Given the description of an element on the screen output the (x, y) to click on. 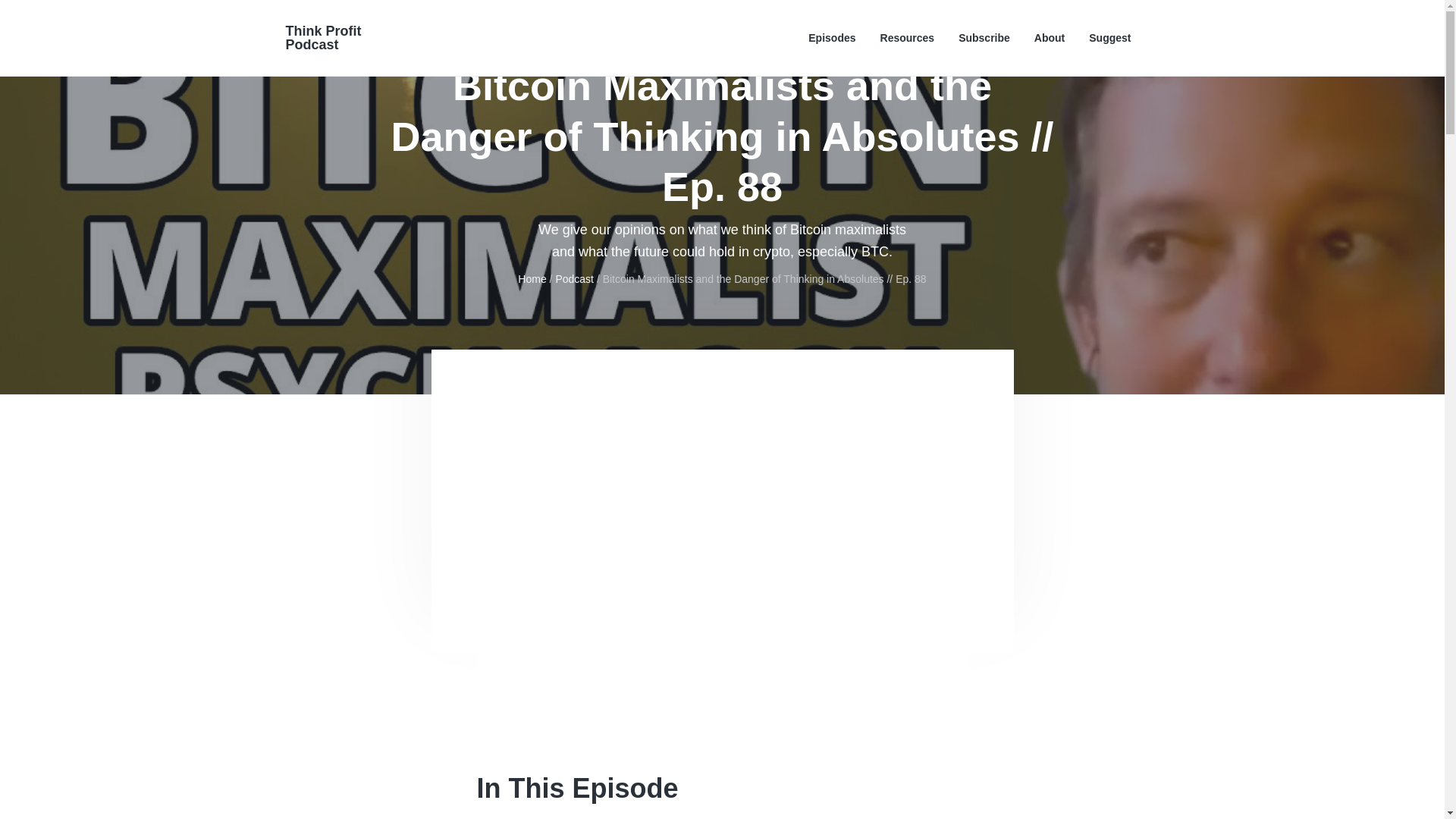
Episodes (832, 37)
Subscribe (984, 37)
Resources (907, 37)
Think Profit Podcast (323, 37)
Suggest (1110, 37)
Search (60, 18)
Home (532, 278)
About (1048, 37)
Podcast (574, 278)
